Given the description of an element on the screen output the (x, y) to click on. 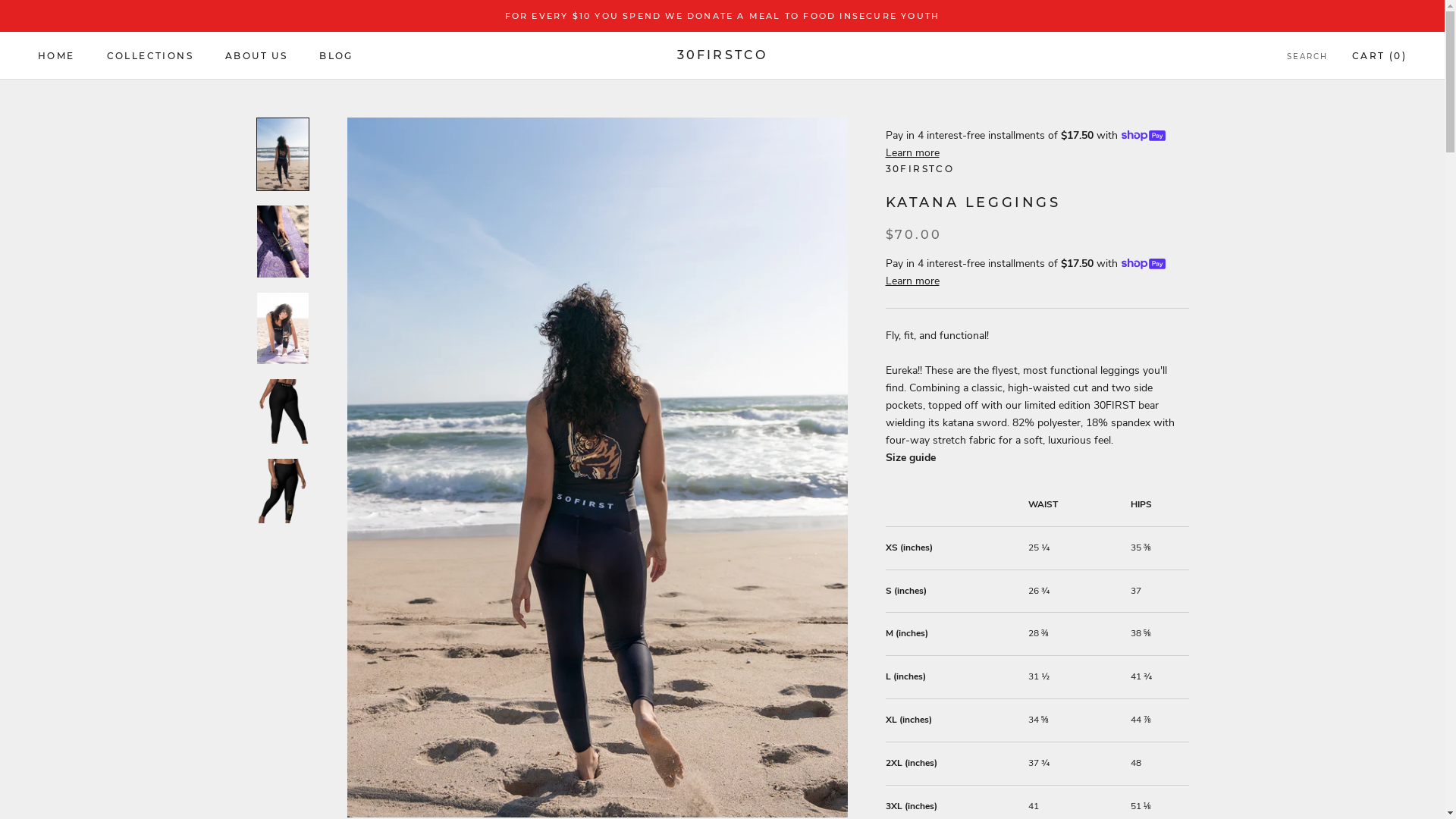
30FIRSTCO Element type: text (722, 55)
ABOUT US
ABOUT US Element type: text (256, 55)
BLOG
BLOG Element type: text (336, 55)
COLLECTIONS
COLLECTIONS Element type: text (149, 55)
SEARCH Element type: text (1306, 56)
HOME
HOME Element type: text (56, 55)
CART (0) Element type: text (1379, 55)
